Given the description of an element on the screen output the (x, y) to click on. 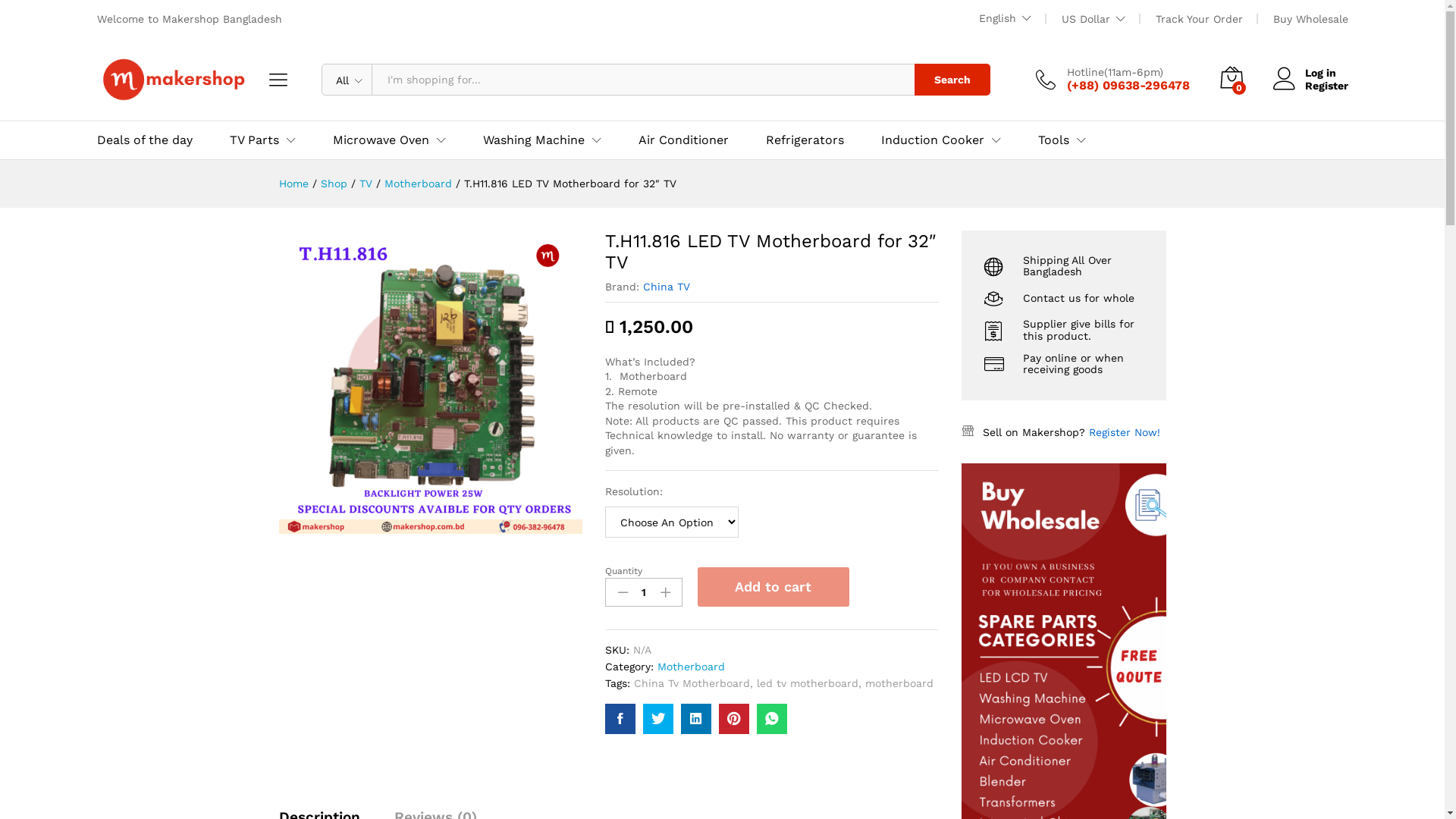
China TV Element type: text (666, 286)
Log in Element type: text (1309, 72)
T.H11.816+LED+TV+Motherboard+for+32%26%238243%3B+TV Element type: hover (658, 718)
English Element type: text (1004, 17)
TV Parts Element type: text (253, 140)
Register Element type: text (1309, 85)
Track Your Order Element type: text (1198, 18)
Motherboard Element type: text (417, 183)
Refrigerators Element type: text (804, 140)
Register Now! Element type: text (1124, 432)
Search Element type: text (952, 79)
Home Element type: text (293, 183)
China Tv Motherboard Element type: text (691, 683)
T.H11.816+LED+TV+Motherboard+for+32%26%238243%3B+TV Element type: hover (695, 718)
motherboard Element type: text (899, 683)
Qty Element type: hover (643, 591)
T.H11.816 LED TV Motherboard in Bangladesh Element type: hover (430, 381)
French Element type: text (1046, 60)
Induction Cooker Element type: text (932, 140)
Tools Element type: text (1052, 140)
Add to cart Element type: text (773, 586)
T.H11.816+LED+TV+Motherboard+for+32%26%238243%3B+TV Element type: hover (733, 718)
Washing Machine Element type: text (532, 140)
US Dollar Element type: text (1136, 61)
Deals of the day Element type: text (144, 140)
Shop Element type: text (333, 183)
Microwave Oven Element type: text (380, 140)
TV Element type: text (365, 183)
led tv motherboard Element type: text (807, 683)
0 Element type: text (1230, 78)
Air Conditioner Element type: text (683, 140)
German Element type: text (1046, 84)
Buy Wholesale Element type: text (1309, 18)
European Euro Element type: text (1151, 83)
Motherboard Element type: text (690, 666)
